Given the description of an element on the screen output the (x, y) to click on. 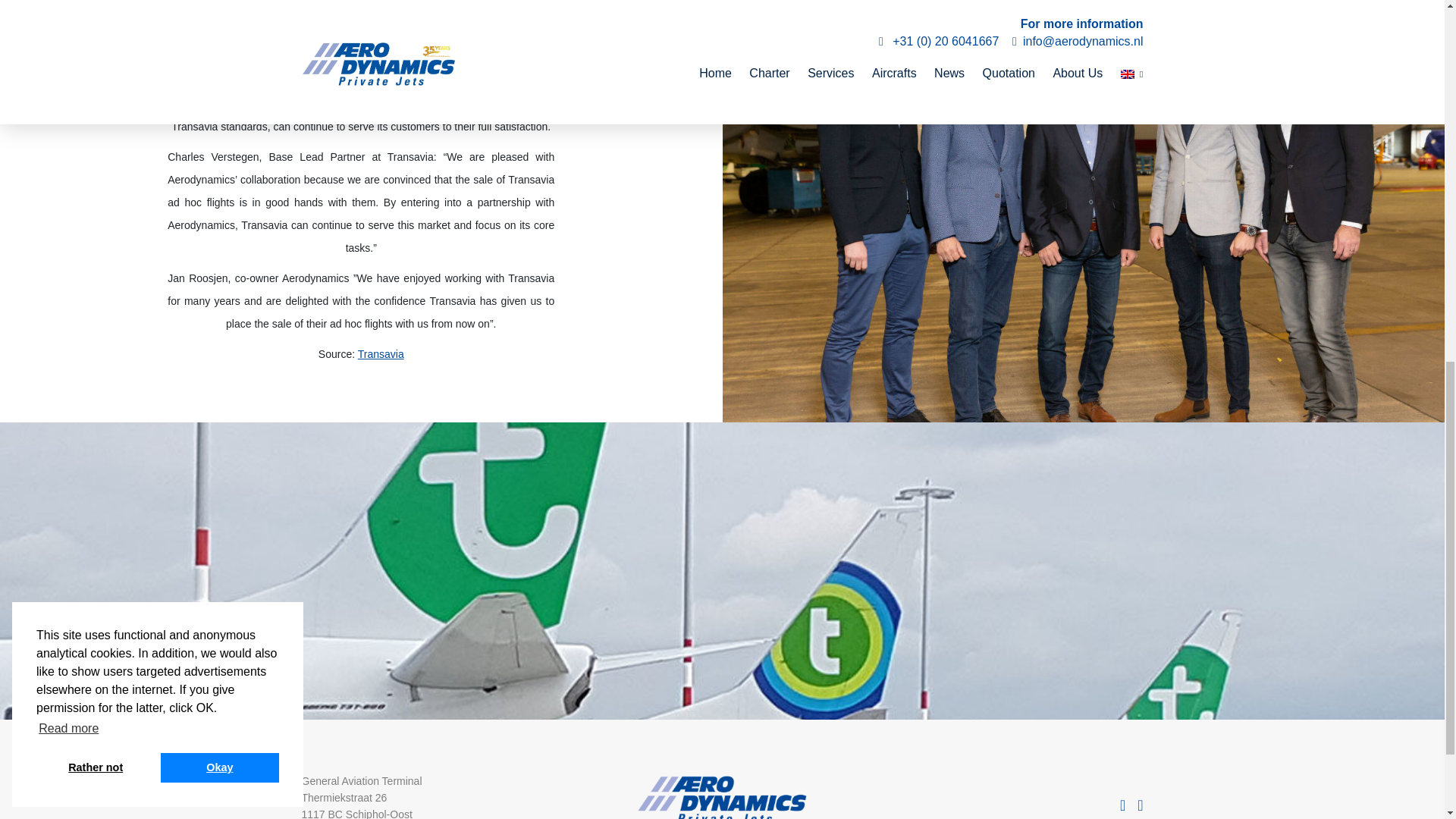
Rather not (95, 36)
Okay (219, 36)
Read more (68, 4)
